Given the description of an element on the screen output the (x, y) to click on. 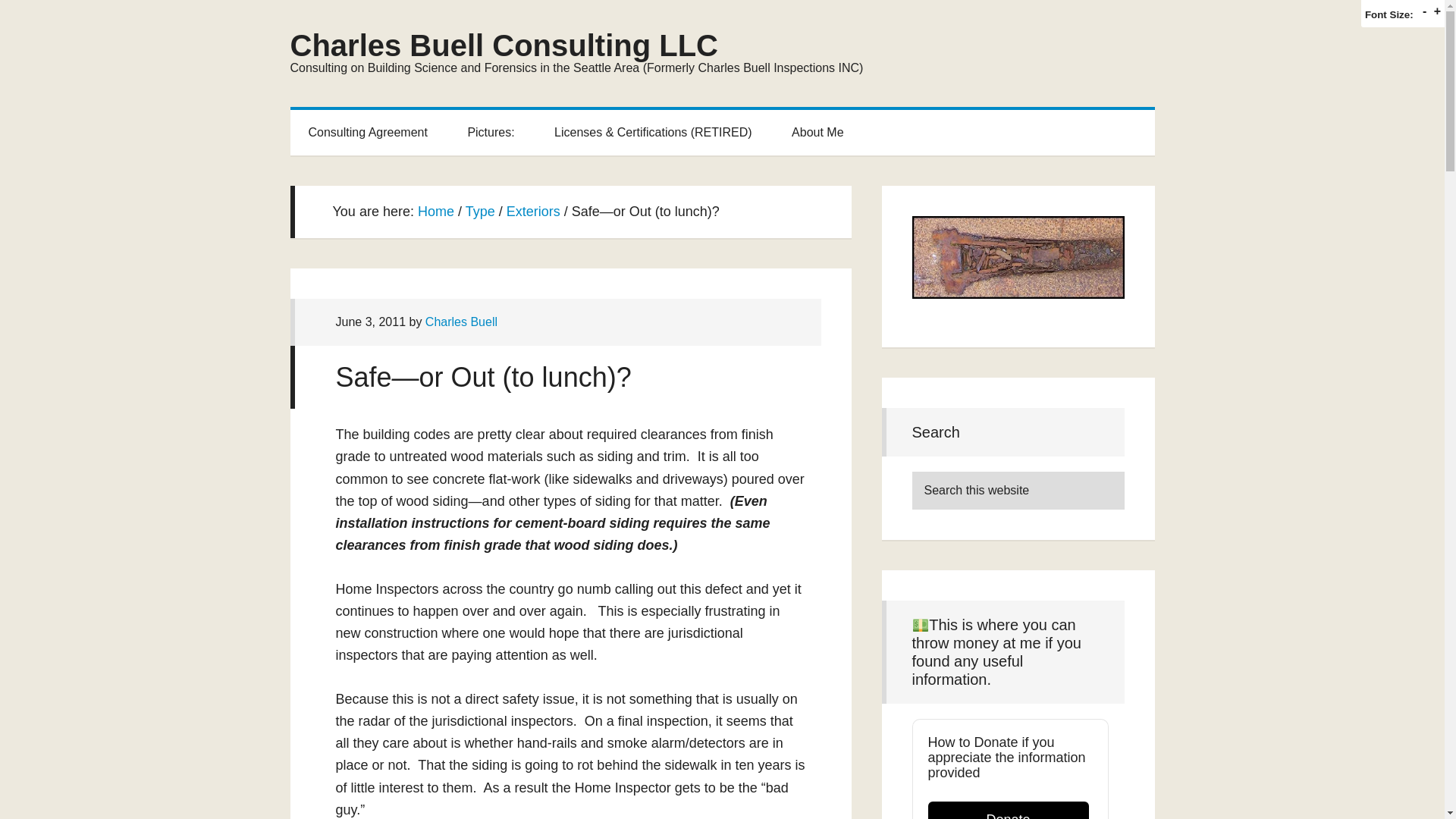
Home (435, 211)
Exteriors (533, 211)
Donate (1008, 810)
Pictures: (490, 132)
Charles Buell (461, 321)
Charles Buell Consulting LLC (503, 45)
